Given the description of an element on the screen output the (x, y) to click on. 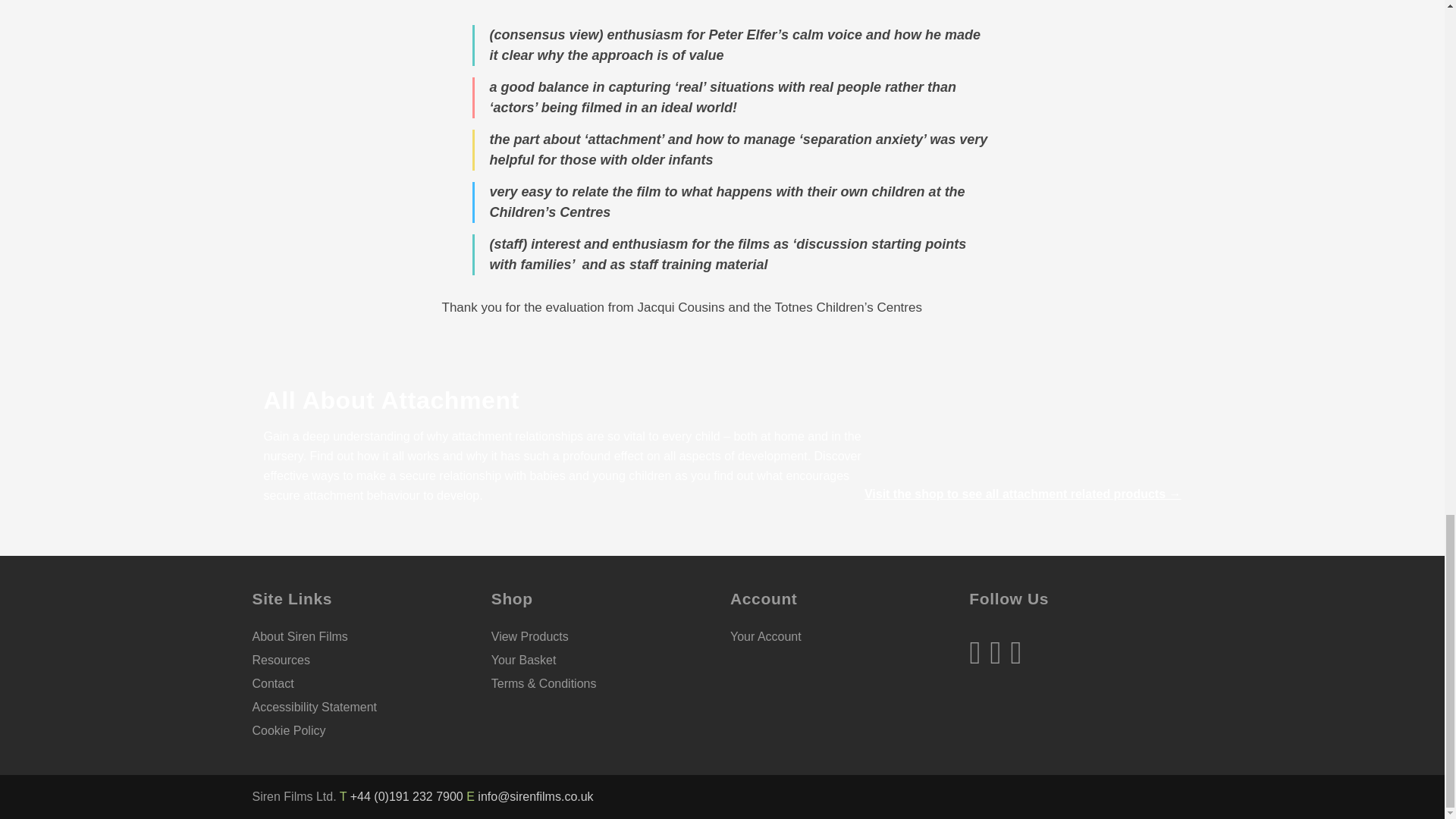
Contact (272, 683)
Cookie Policy (287, 730)
LinkedIn (1016, 652)
Twitter (1000, 652)
View Products (530, 635)
Resources (279, 659)
Your Account (766, 635)
About Siren Films (299, 635)
Your Basket (524, 659)
Facebook (979, 652)
Accessibility Statement (314, 707)
